Given the description of an element on the screen output the (x, y) to click on. 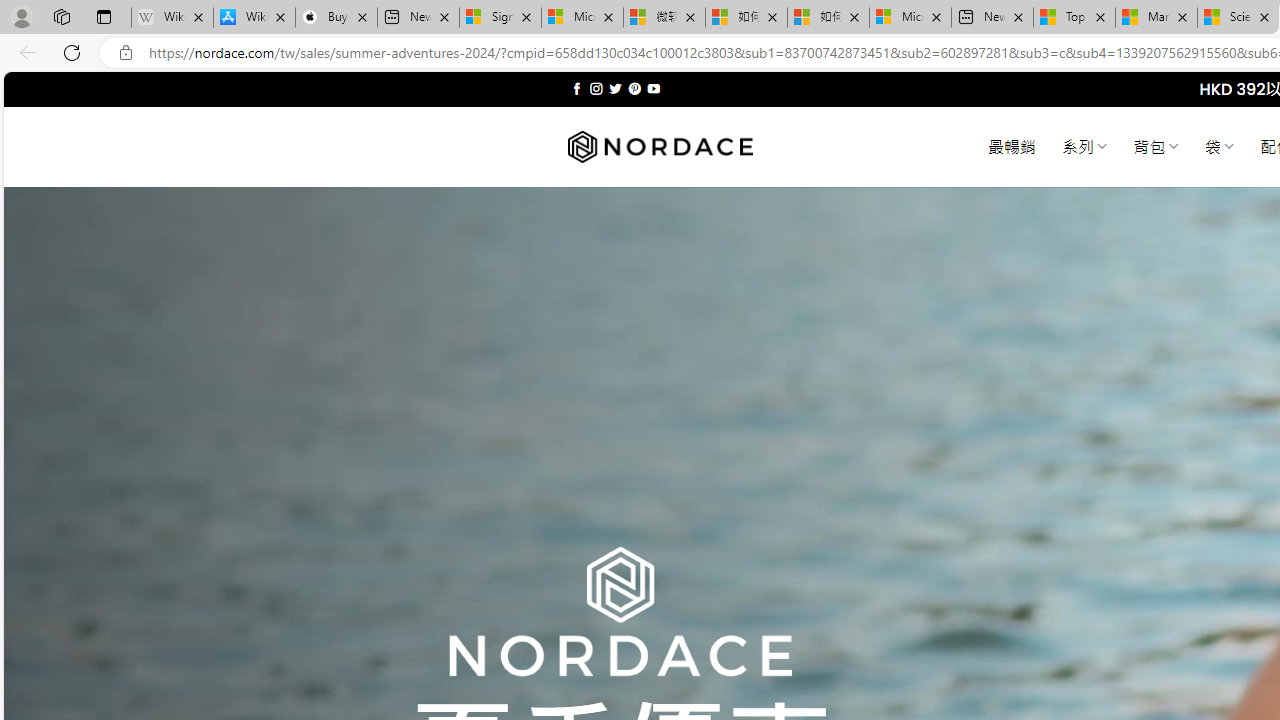
Follow on YouTube (653, 88)
Buy iPad - Apple (336, 17)
Follow on Pinterest (634, 88)
